Given the description of an element on the screen output the (x, y) to click on. 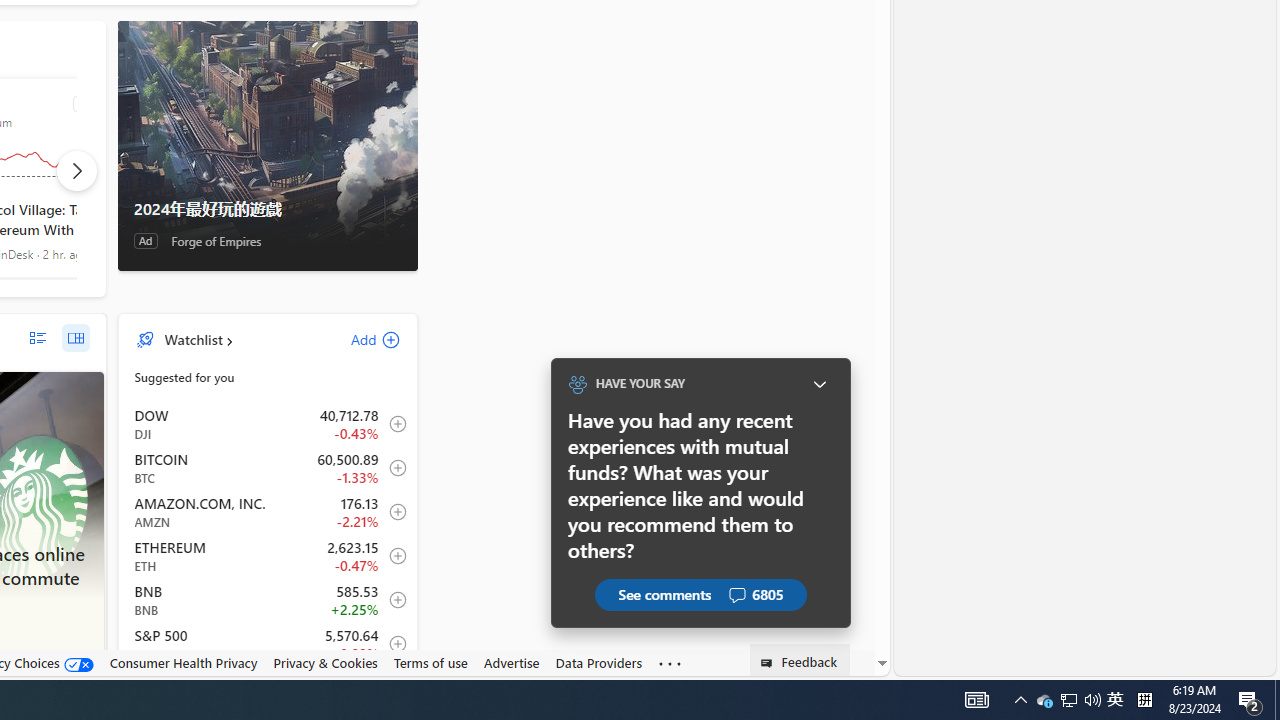
Data Providers (598, 662)
Class: feedback_link_icon-DS-EntryPoint1-1 (770, 663)
Add to Watchlist (392, 643)
Terms of use (430, 662)
Privacy & Cookies (324, 663)
DJI DOW decrease 40,712.78 -177.71 -0.43% item0 (267, 423)
Terms of use (430, 663)
Add (358, 339)
BNB BNB increase 585.53 +13.17 +2.25% item4 (267, 600)
